Given the description of an element on the screen output the (x, y) to click on. 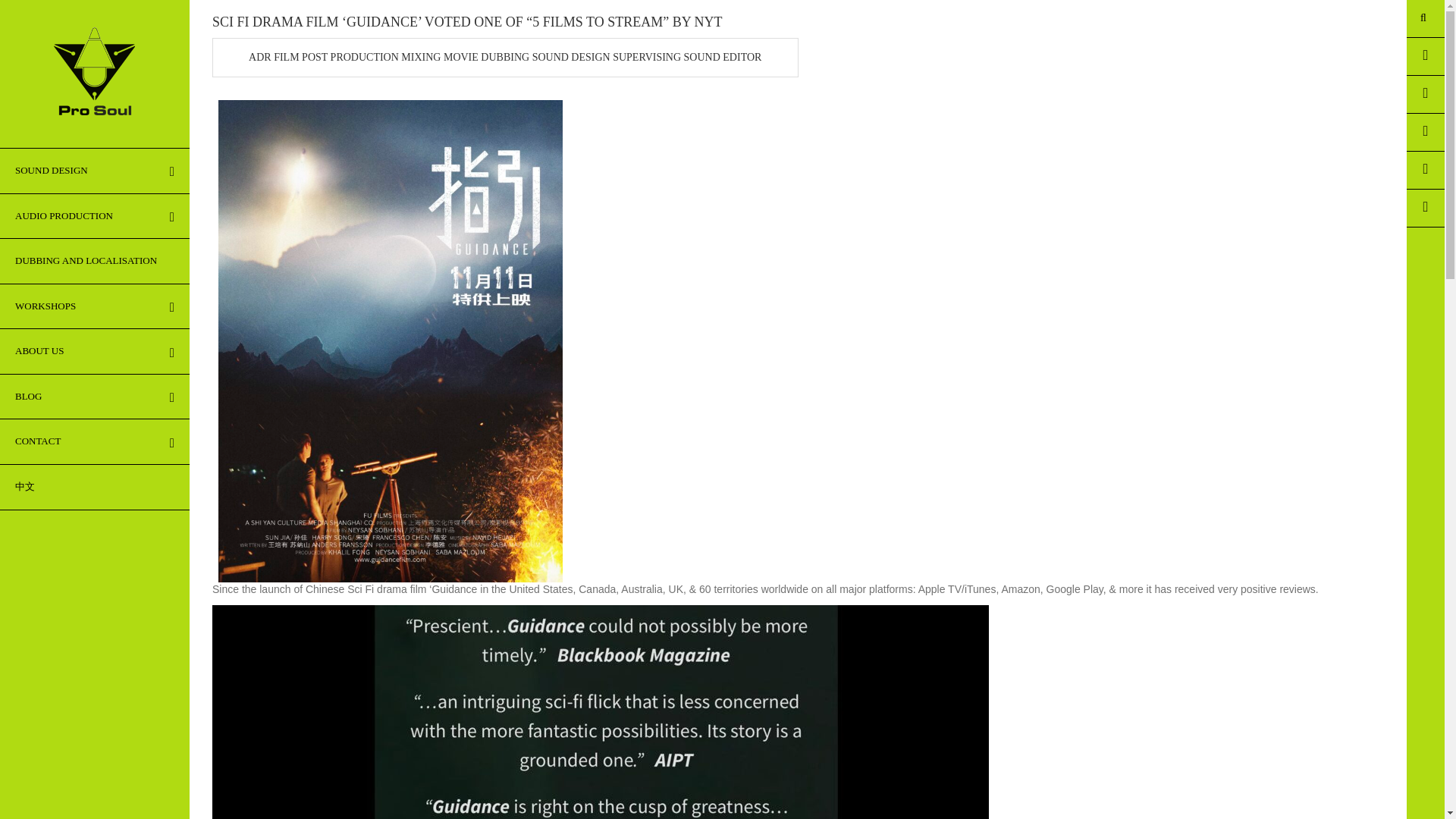
SOUND DESIGN (94, 171)
BLOG (94, 397)
ABOUT US (94, 351)
DUBBING AND LOCALISATION (94, 261)
AUDIO PRODUCTION (94, 216)
WORKSHOPS (94, 307)
CONTACT (94, 442)
